Given the description of an element on the screen output the (x, y) to click on. 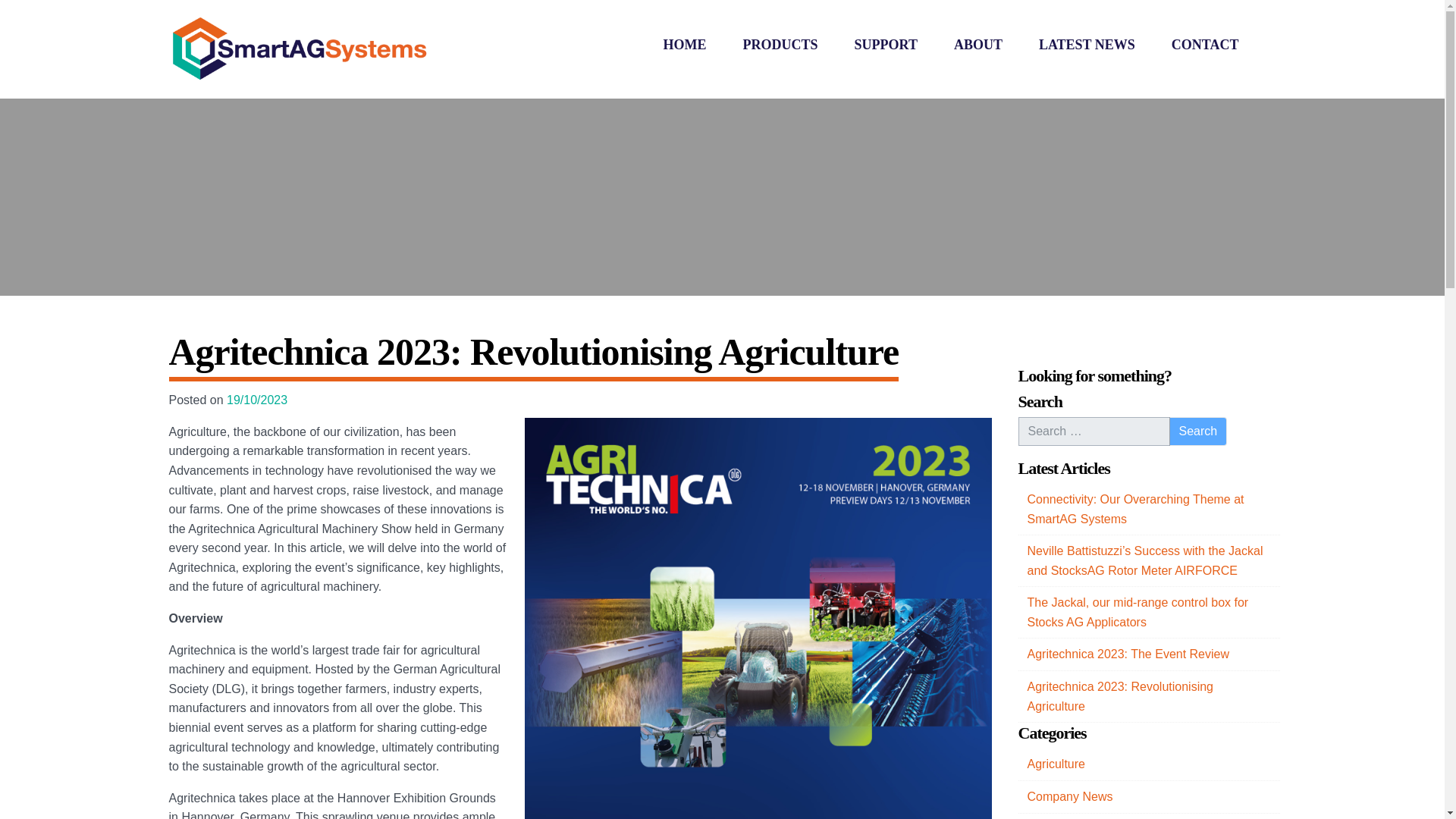
LATEST NEWS (1086, 46)
CONTACT (1205, 46)
Company News (1148, 797)
Search (1198, 430)
HOME (684, 46)
SUPPORT (885, 46)
Search (1198, 430)
PRODUCTS (780, 46)
Agritechnica 2023: The Event Review (1148, 654)
